Given the description of an element on the screen output the (x, y) to click on. 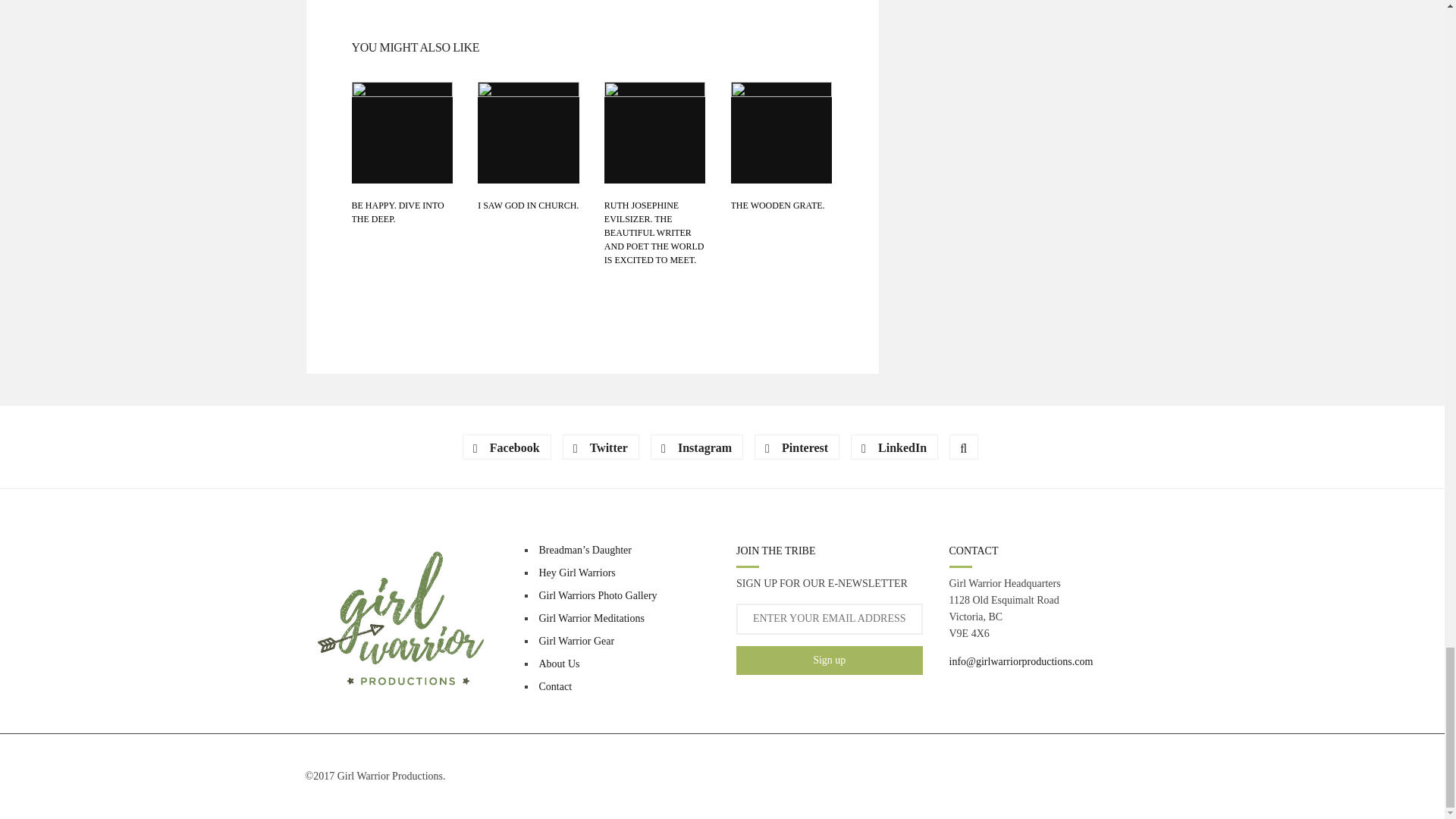
THE WOODEN GRATE. (777, 204)
Be Happy. Dive Into The Deep. (398, 211)
BE HAPPY. DIVE INTO THE DEEP. (398, 211)
Be Happy. Dive Into The Deep. (402, 131)
I Saw God in Church. (527, 131)
I SAW GOD IN CHURCH. (527, 204)
I Saw God in Church. (527, 204)
The Wooden Grate. (780, 131)
Sign up (829, 659)
